Given the description of an element on the screen output the (x, y) to click on. 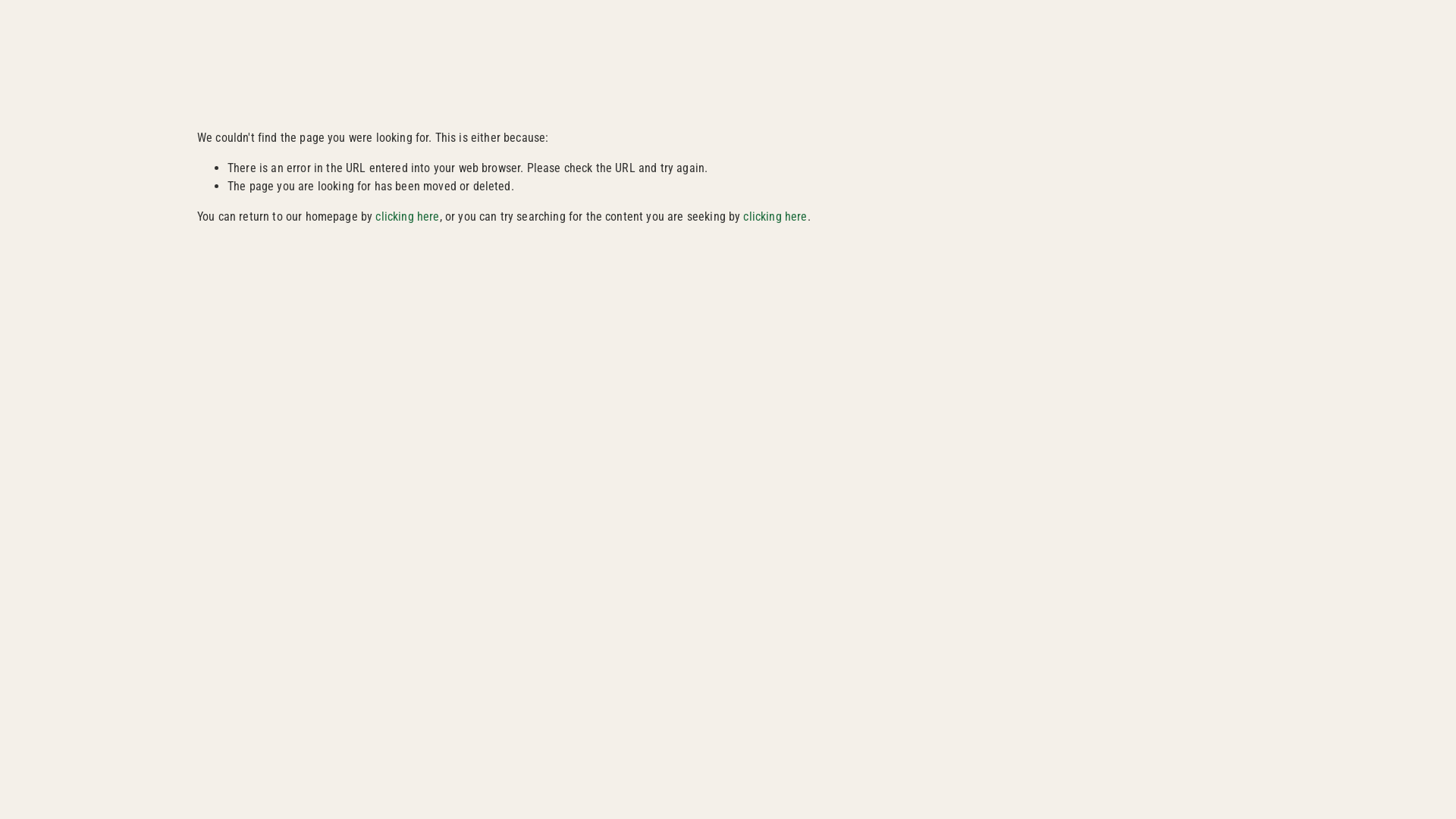
clicking here Element type: text (407, 216)
clicking here Element type: text (774, 216)
